Given the description of an element on the screen output the (x, y) to click on. 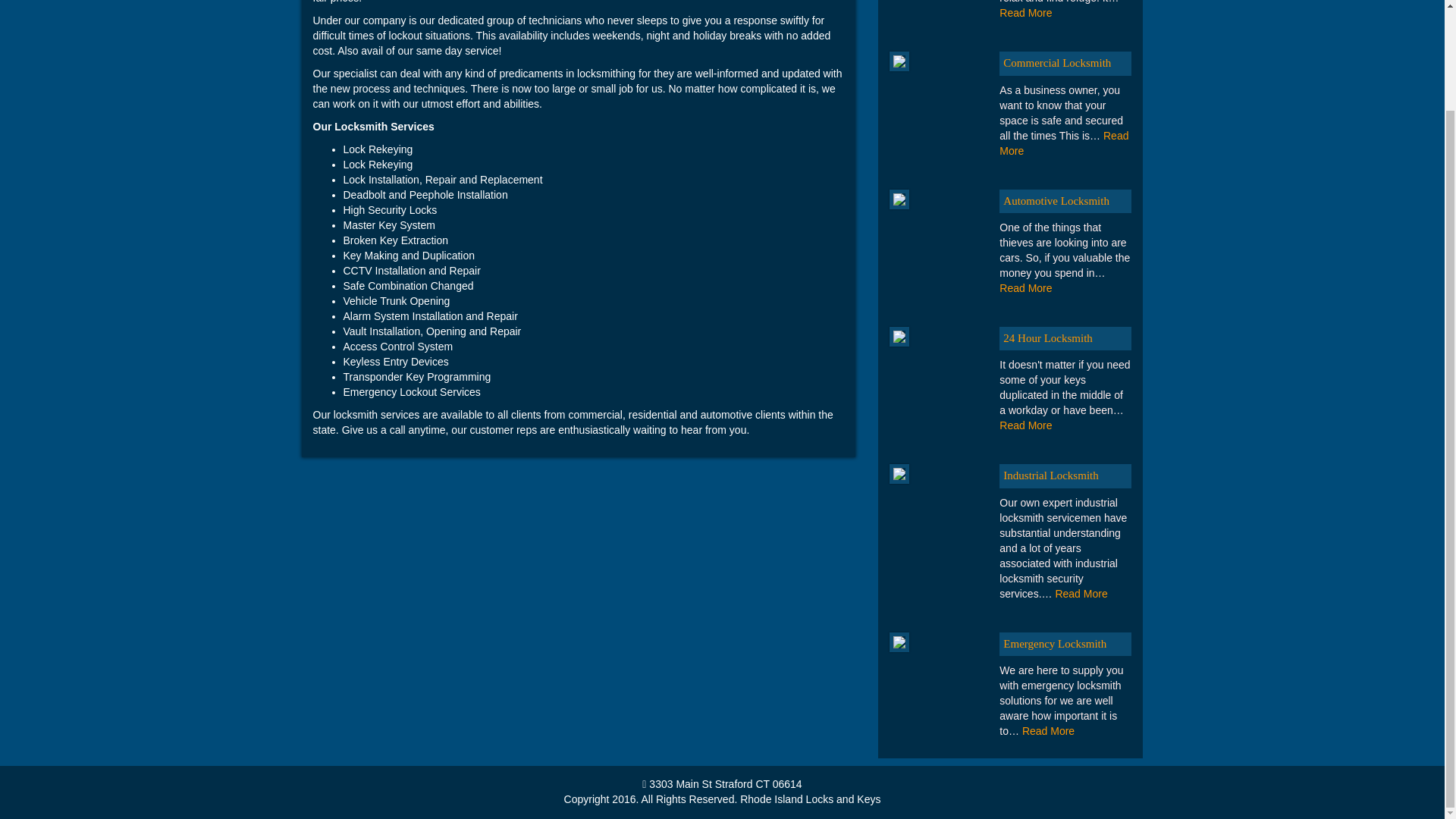
Read More (1048, 730)
Read More (1080, 593)
Read More (1063, 143)
Read More (1024, 287)
Read More (1024, 425)
Read More (1024, 12)
